Given the description of an element on the screen output the (x, y) to click on. 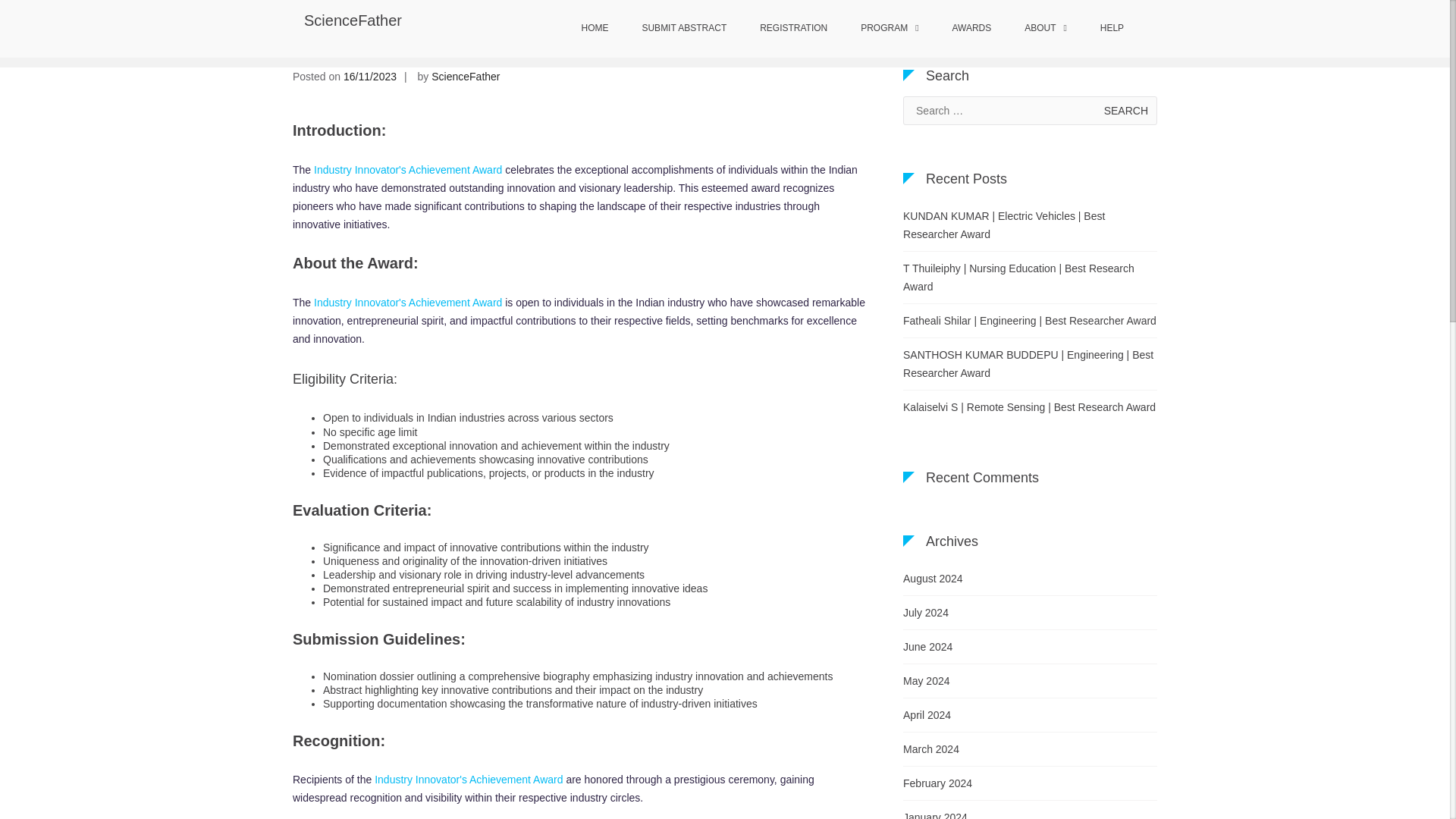
AWARDS (971, 28)
PROGRAM (889, 28)
Industry Innovator's Achievement Award (408, 302)
Search (1125, 110)
ScienceFather (464, 76)
Industry Innovator's Achievement Award (468, 779)
Home (814, 29)
Home (814, 29)
Posts (853, 29)
Posts (853, 29)
